Given the description of an element on the screen output the (x, y) to click on. 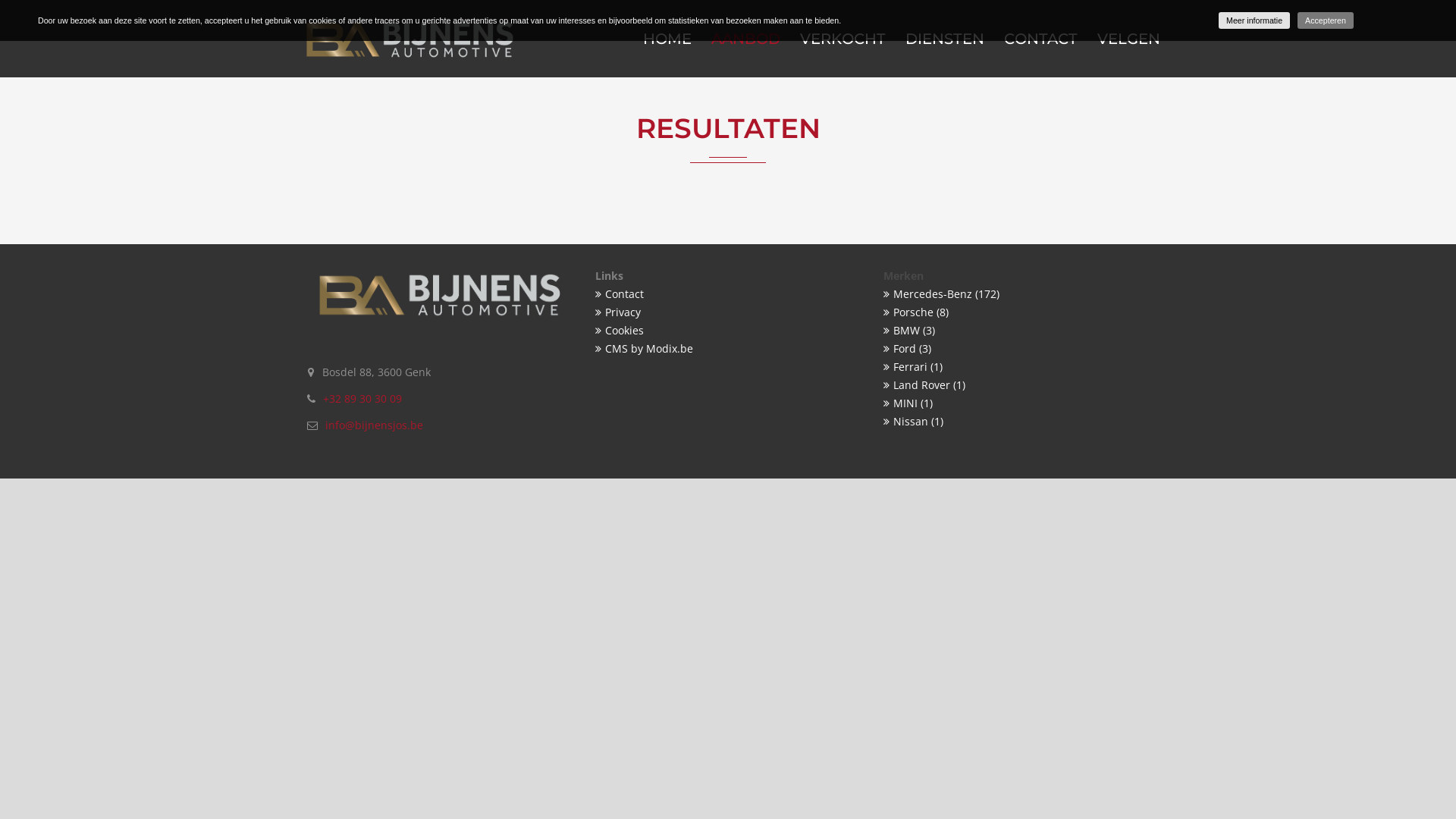
Land Rover (1) Element type: text (1015, 385)
Mercedes-Benz (172) Element type: text (1015, 294)
CONTACT Element type: text (1040, 38)
CMS by Modix.be Element type: text (716, 348)
AANBOD Element type: text (745, 38)
Autohaus Logo Element type: hover (409, 39)
Privacy Element type: text (716, 312)
Nissan (1) Element type: text (1015, 421)
Porsche (8) Element type: text (1015, 312)
Meer informatie Element type: text (1253, 20)
Ferrari (1) Element type: text (1015, 366)
info@bijnensjos.be Element type: text (374, 424)
DIENSTEN Element type: text (944, 38)
Cookies Element type: text (716, 330)
Accepteren Element type: text (1325, 20)
Ford (3) Element type: text (1015, 348)
MINI (1) Element type: text (1015, 403)
Contact Element type: text (716, 294)
+32 89 30 30 09 Element type: text (362, 398)
VELGEN Element type: text (1123, 38)
HOME Element type: text (667, 38)
BMW (3) Element type: text (1015, 330)
VERKOCHT Element type: text (842, 38)
